Given the description of an element on the screen output the (x, y) to click on. 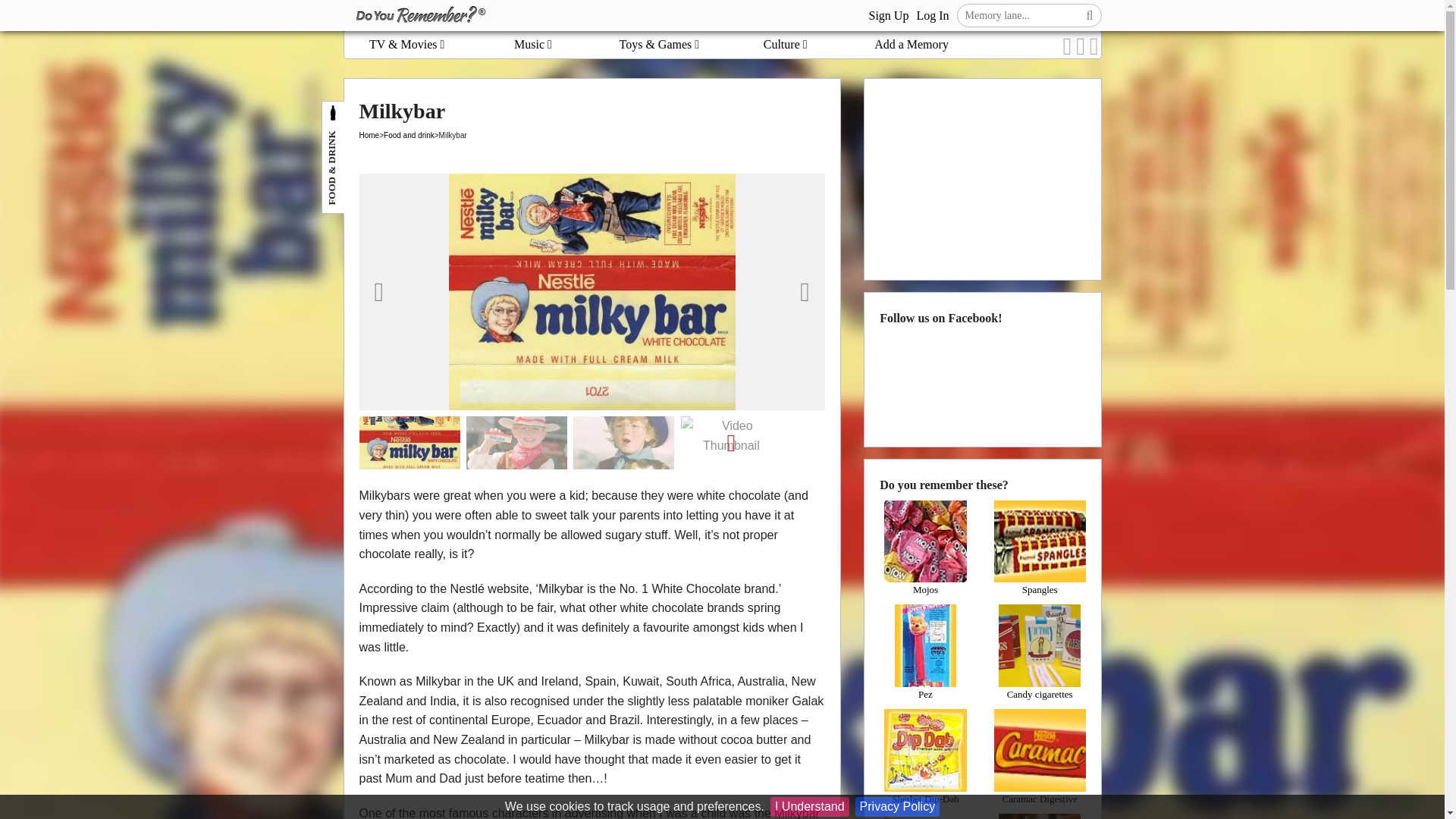
Culture (785, 43)
Advertisement (982, 177)
Sign Up (887, 15)
Music (532, 43)
Privacy Policy (898, 806)
Add a Memory (912, 43)
I Understand (809, 806)
Log In (932, 15)
